Given the description of an element on the screen output the (x, y) to click on. 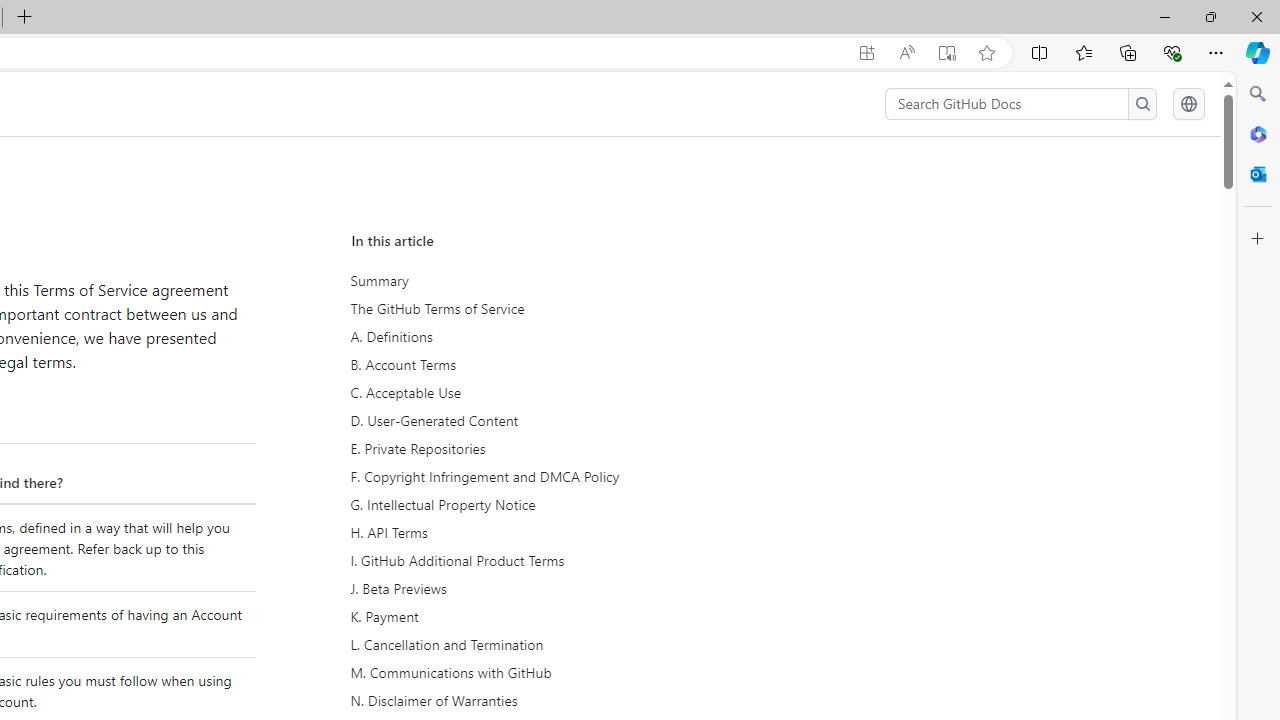
K. Payment (535, 616)
F. Copyright Infringement and DMCA Policy (538, 476)
G. Intellectual Property Notice (535, 505)
I. GitHub Additional Product Terms (538, 561)
N. Disclaimer of Warranties (538, 700)
L. Cancellation and Termination (535, 644)
G. Intellectual Property Notice (538, 505)
E. Private Repositories (538, 448)
Search GitHub Docs (1006, 103)
C. Acceptable Use (538, 392)
H. API Terms (535, 533)
A. Definitions (538, 337)
